Given the description of an element on the screen output the (x, y) to click on. 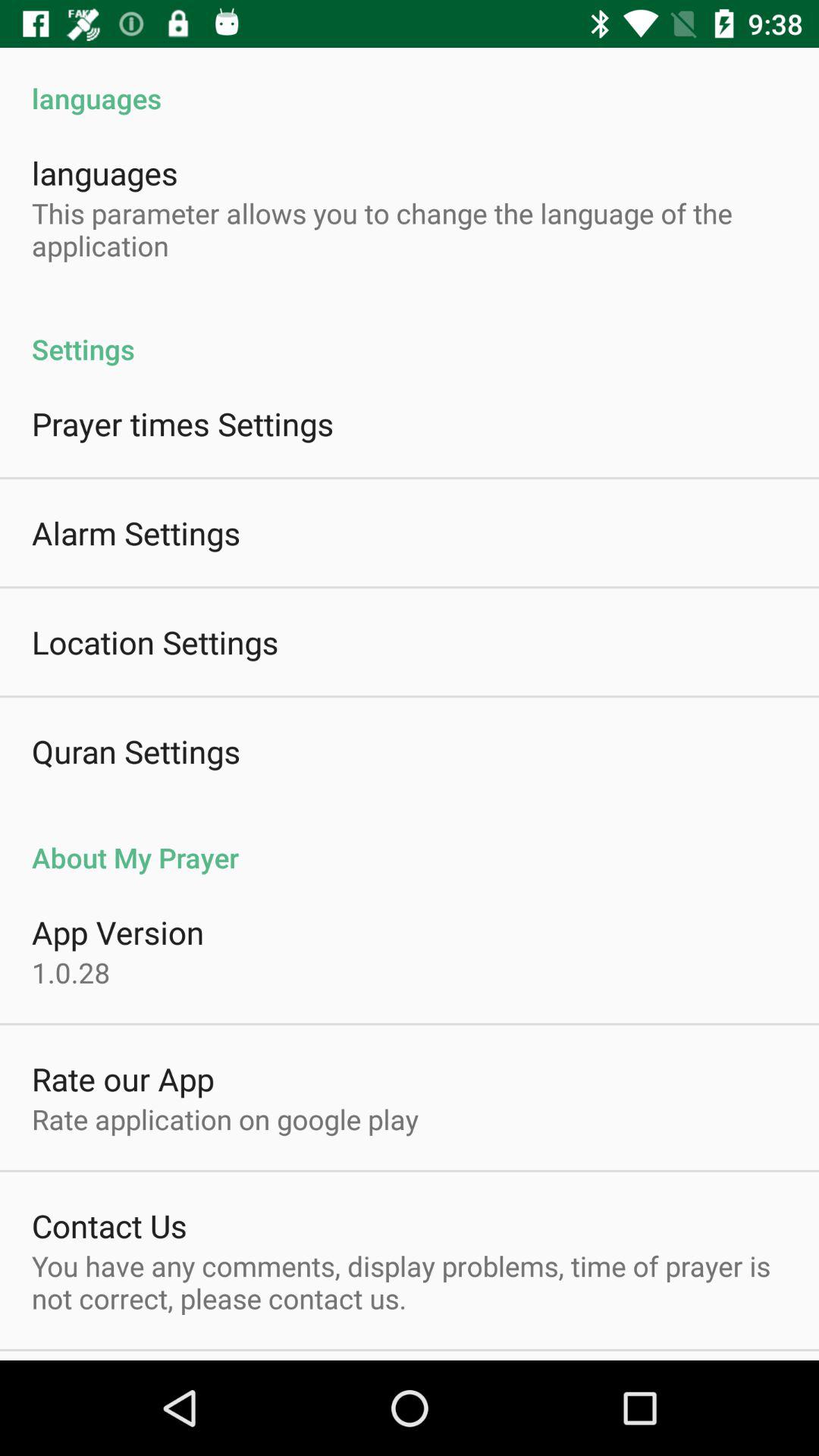
choose icon below alarm settings item (154, 641)
